Given the description of an element on the screen output the (x, y) to click on. 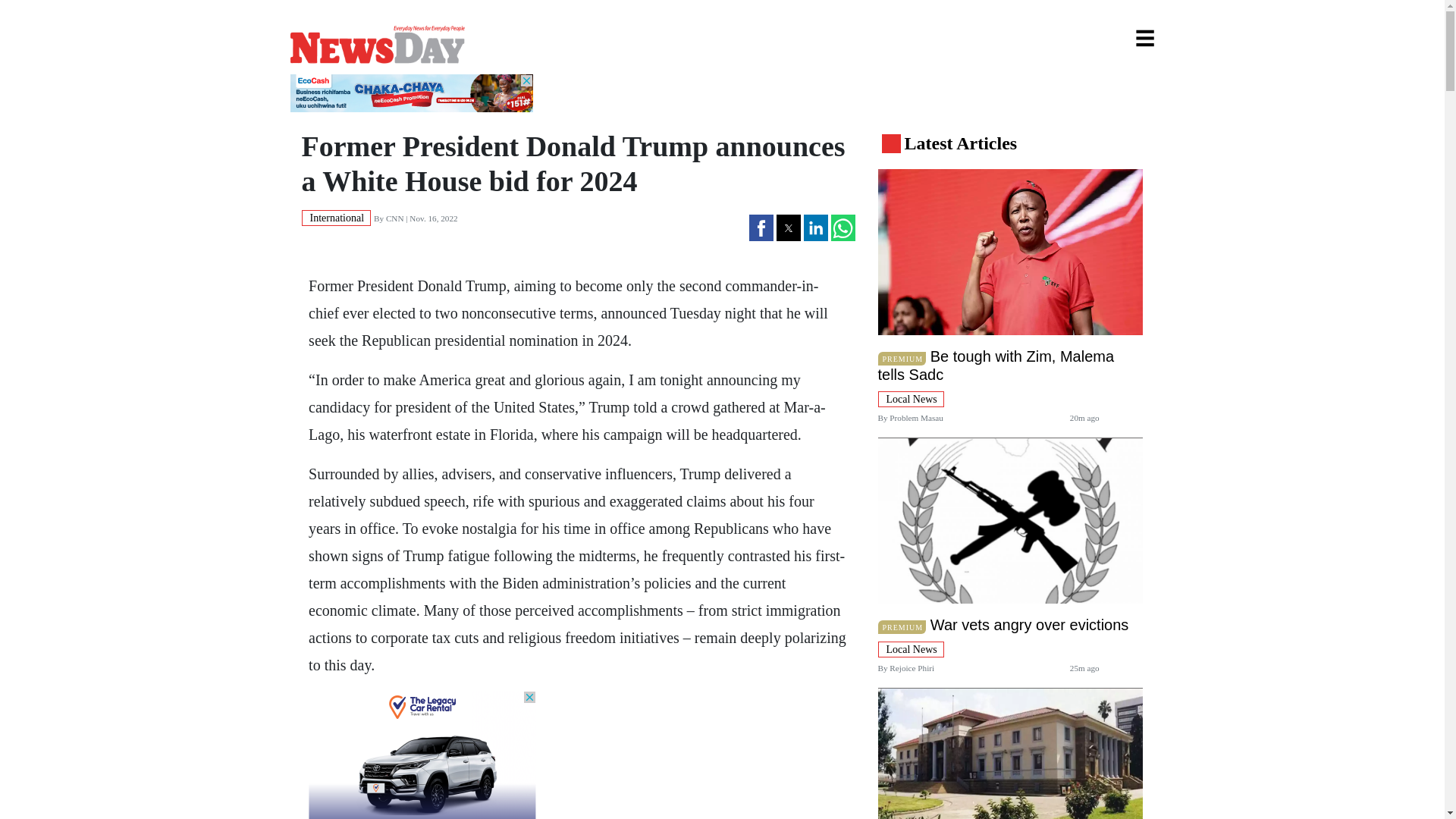
Rejoice Phiri (911, 667)
3rd party ad content (421, 755)
Be tough with Zim, Malema tells Sadc (996, 365)
Latest Articles (960, 143)
International (336, 216)
Local News (910, 398)
War vets angry over evictions (1029, 624)
3rd party ad content (410, 93)
Local News (910, 648)
CNN (394, 217)
Problem Masau (916, 417)
